Given the description of an element on the screen output the (x, y) to click on. 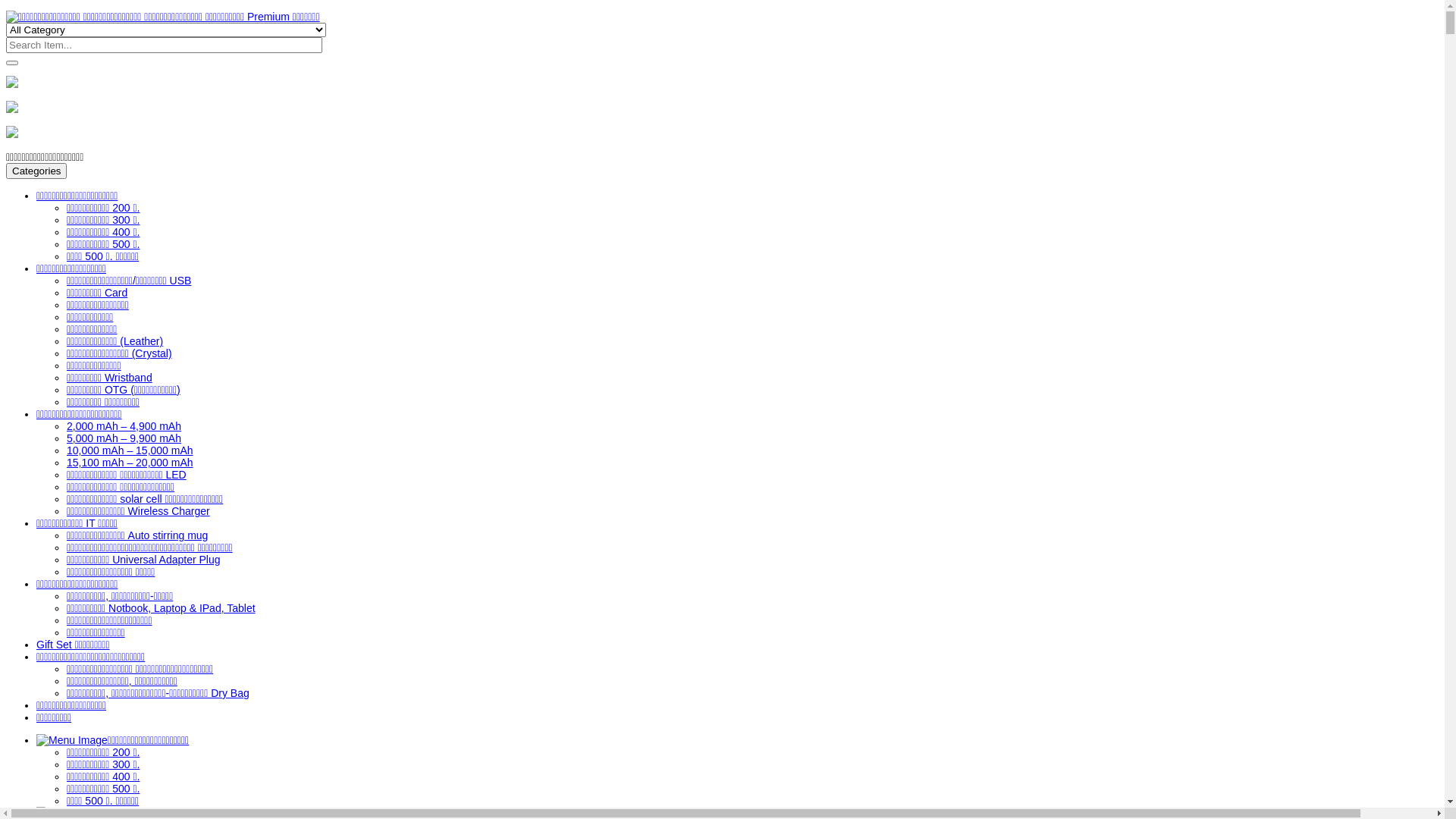
Categories Element type: text (36, 170)
